Given the description of an element on the screen output the (x, y) to click on. 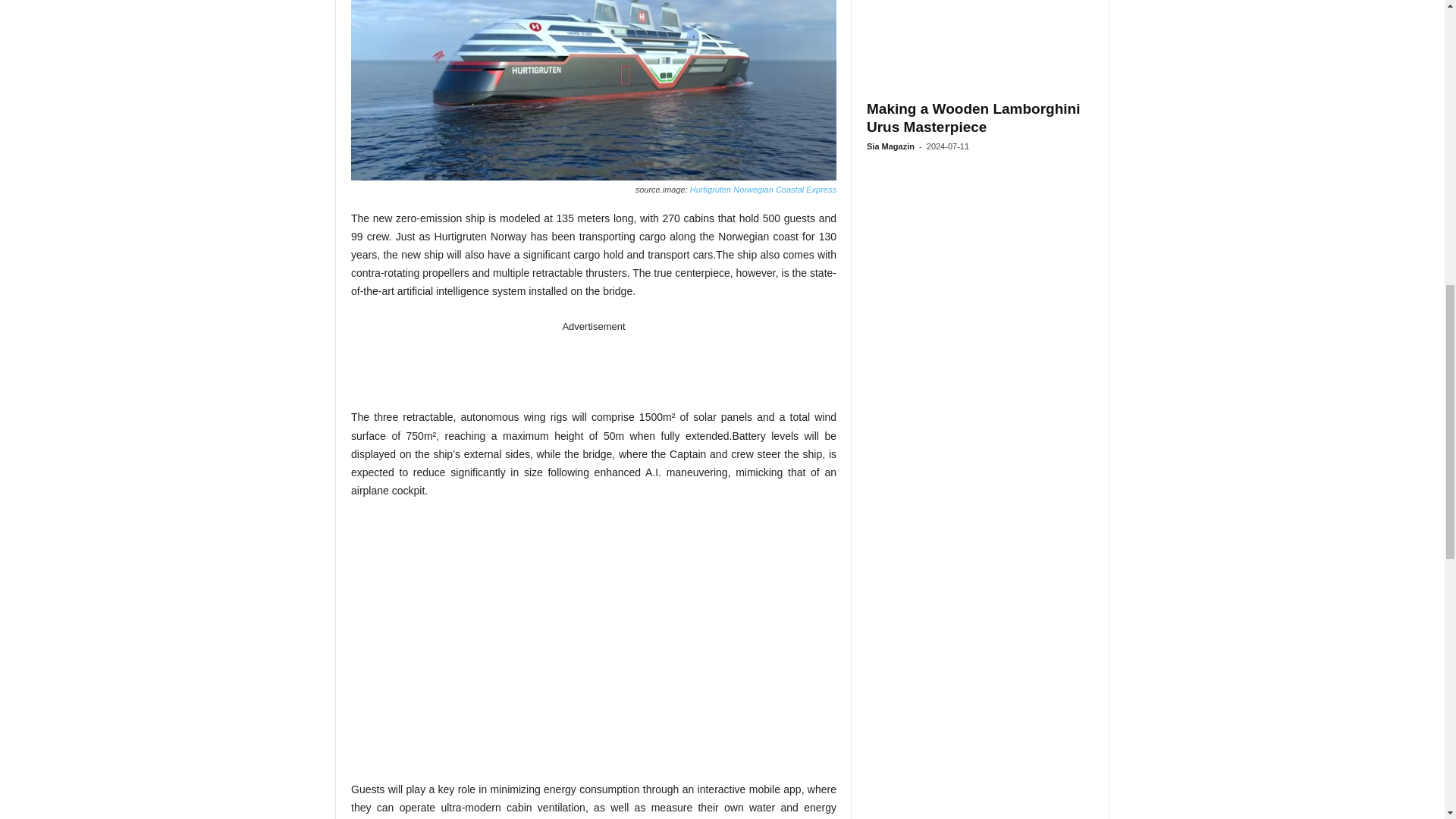
YouTube video player (563, 636)
Hurtigruten Norwegian Coastal Express (761, 189)
